Given the description of an element on the screen output the (x, y) to click on. 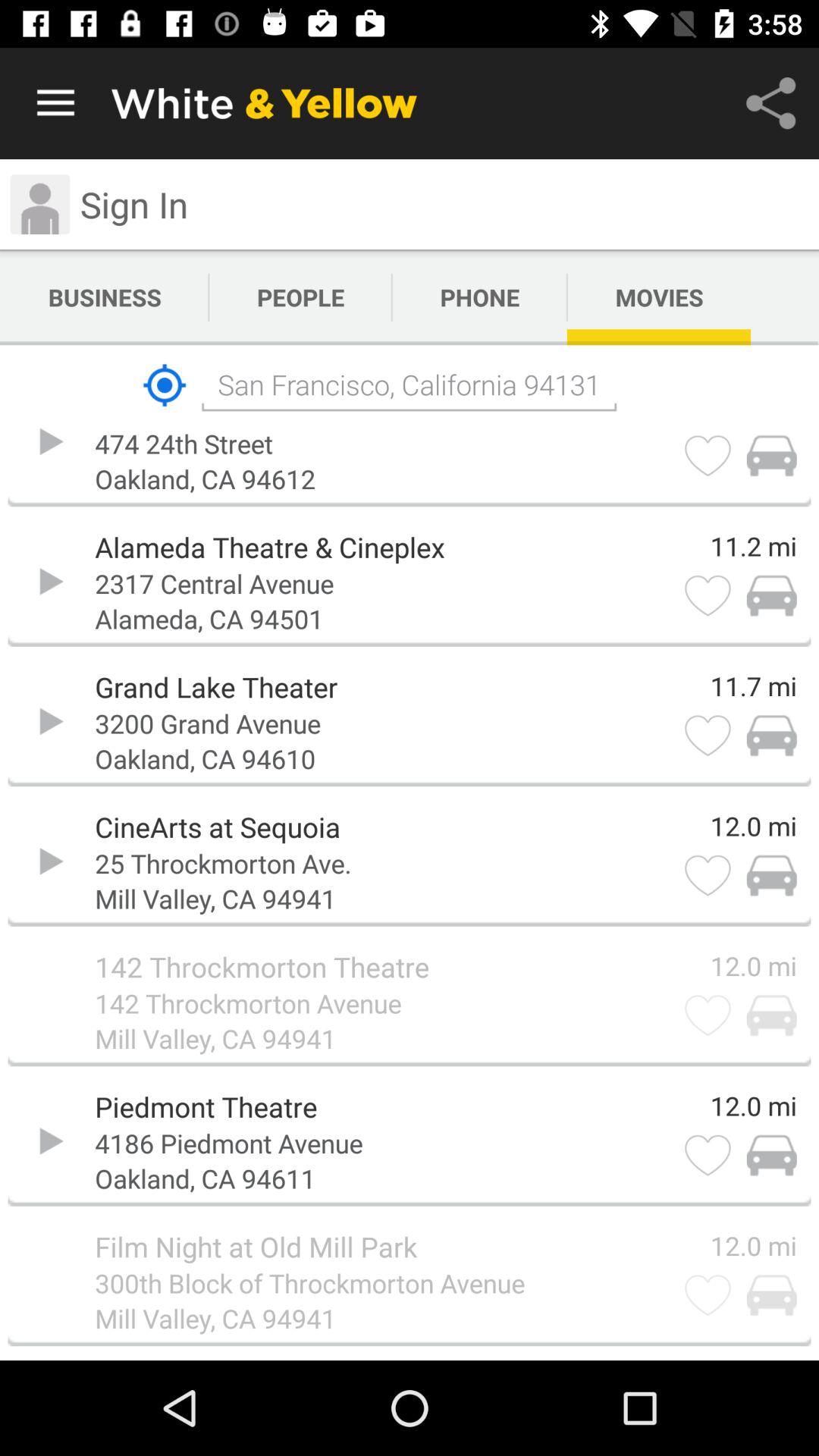
turn off the icon next to business item (300, 297)
